Given the description of an element on the screen output the (x, y) to click on. 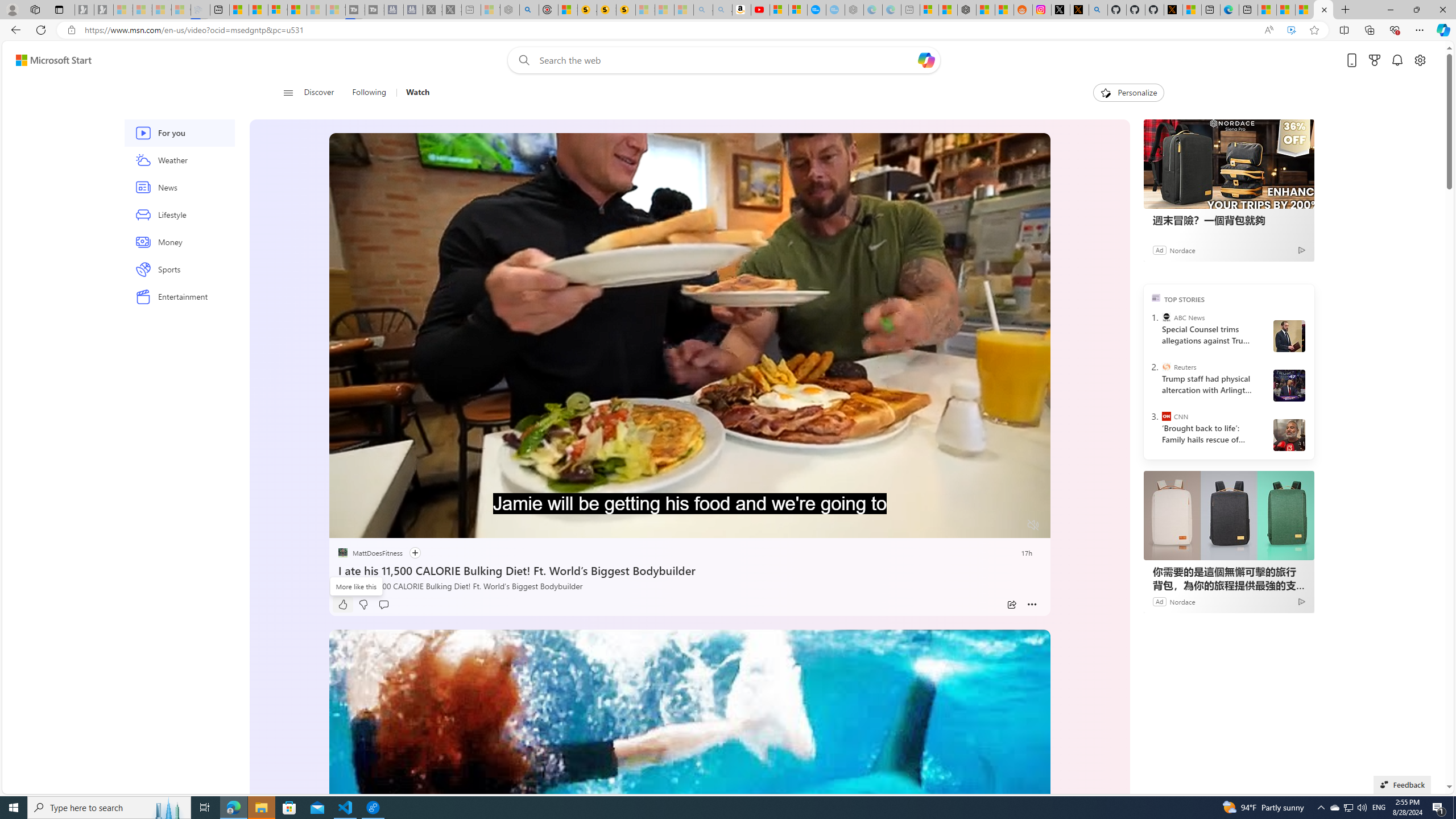
Quality Settings (964, 525)
Nordace - Nordace has arrived Hong Kong - Sleeping (853, 9)
Progress Bar (689, 510)
Opinion: Op-Ed and Commentary - USA TODAY (816, 9)
Newsletter Sign Up - Sleeping (102, 9)
App bar (728, 29)
